Given the description of an element on the screen output the (x, y) to click on. 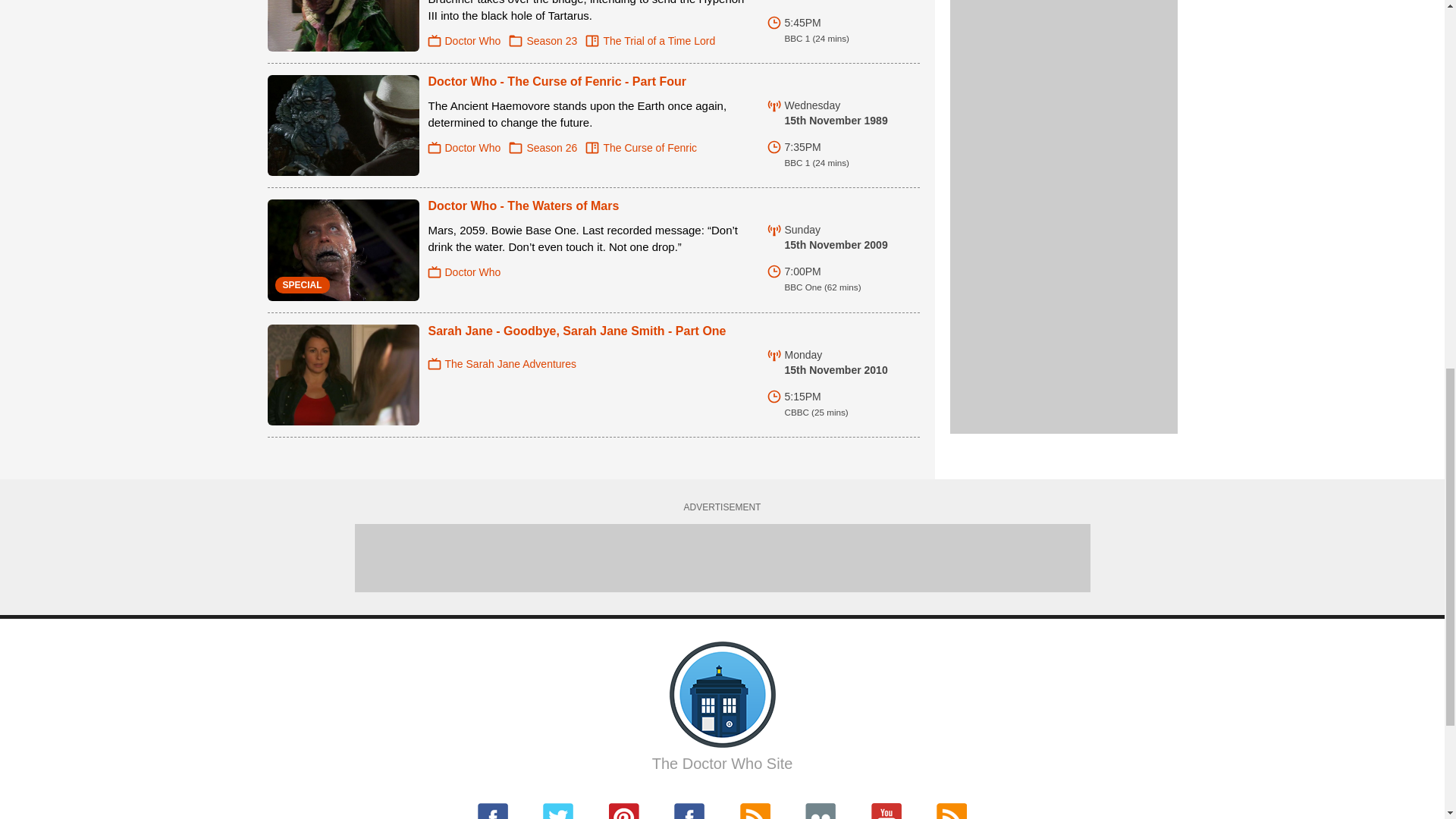
Advertisement (1062, 83)
